Given the description of an element on the screen output the (x, y) to click on. 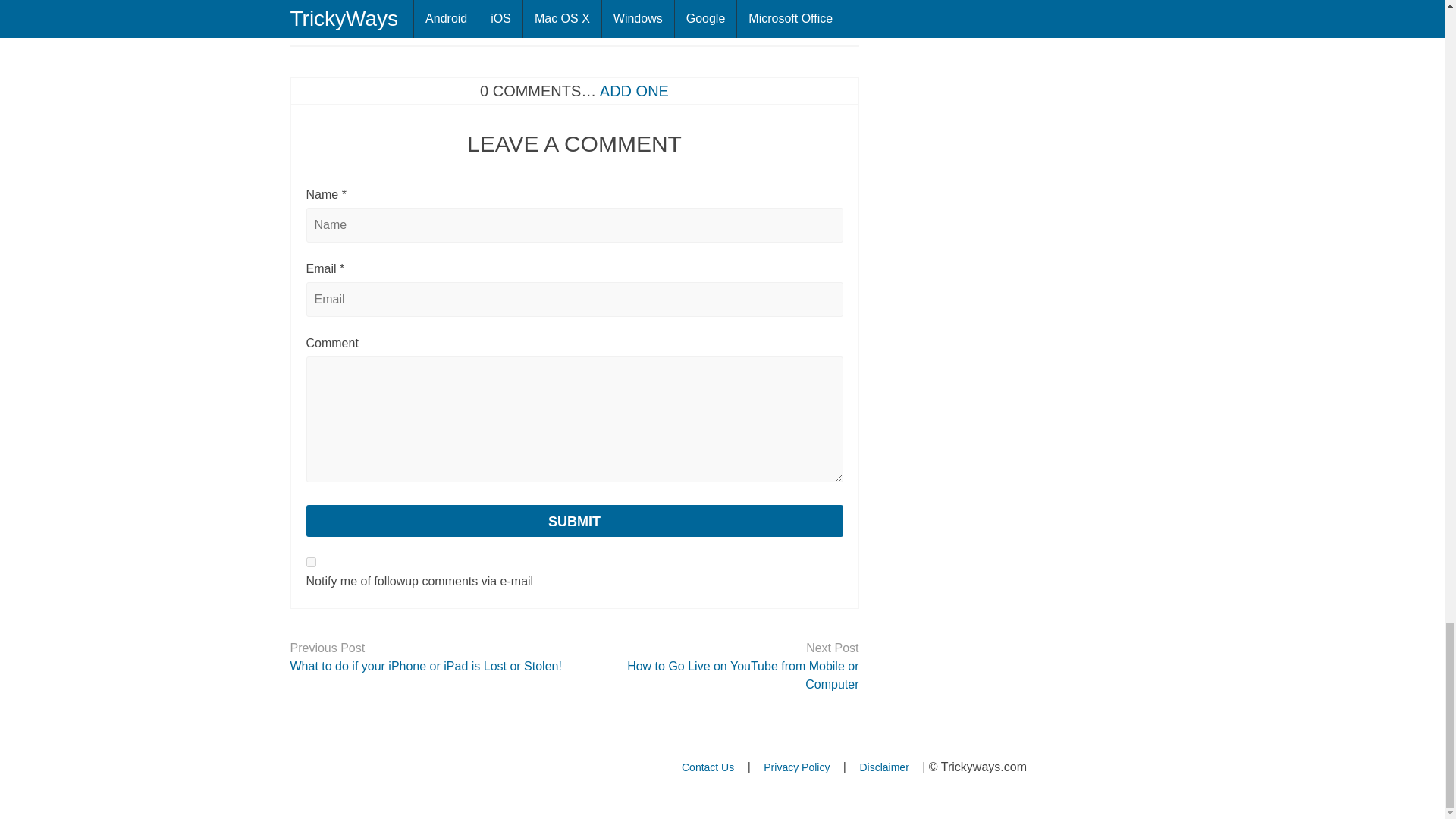
How to Go Live on YouTube from Mobile or Computer (722, 675)
What to do if your iPhone or iPad is Lost or Stolen! (425, 666)
Contact Us (707, 768)
Follow us on Twitter (390, 768)
Required (341, 268)
ADD ONE (633, 90)
subscribe (310, 562)
Required (344, 194)
Disclaimer (883, 768)
Get Updates via email (301, 768)
Submit (574, 521)
Subscribe to RSS Feed (346, 768)
Submit (574, 521)
Become Facebook Fan (436, 768)
Privacy Policy (797, 768)
